Given the description of an element on the screen output the (x, y) to click on. 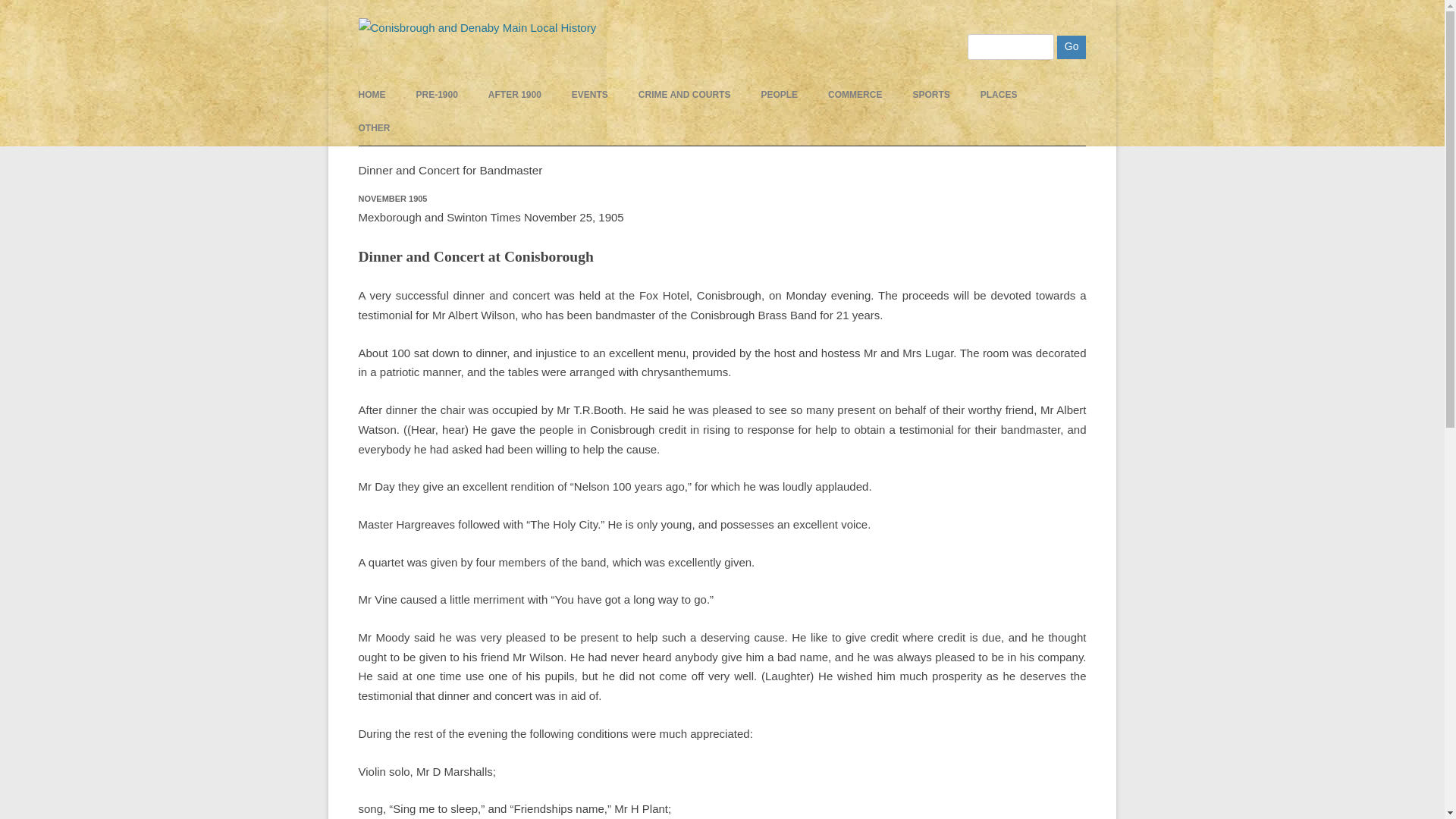
CRIME AND COURTS (684, 94)
PEOPLE (778, 94)
EVENTS (590, 94)
PLACES (998, 94)
Go (1071, 46)
AFTER 1900 (514, 94)
Go (1071, 46)
OTHER (374, 127)
SPORTS (930, 94)
PRE-1900 (435, 94)
COMMERCE (855, 94)
